Given the description of an element on the screen output the (x, y) to click on. 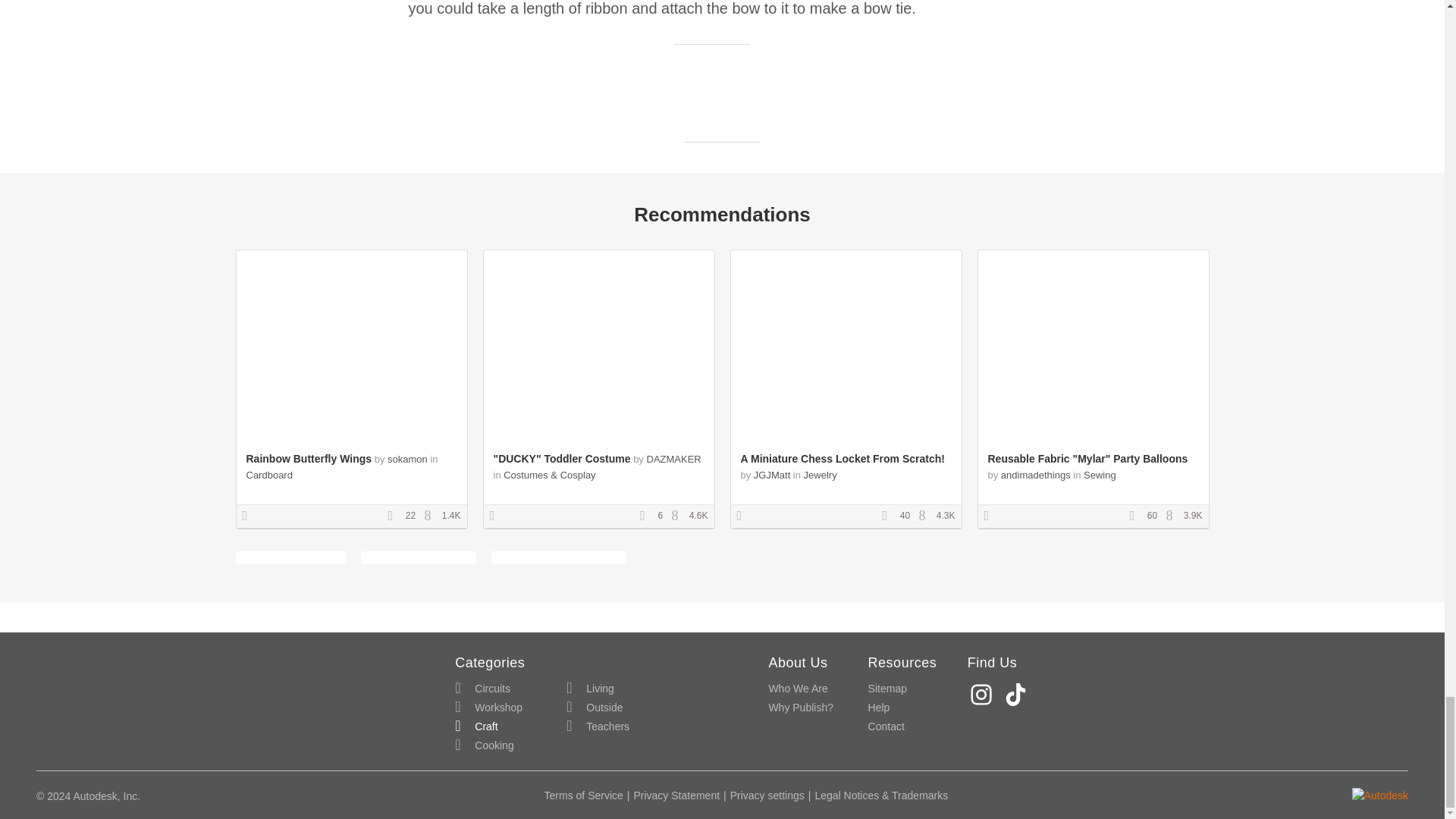
Views Count (431, 516)
Jewelry (820, 474)
Contest Winner (250, 516)
Reusable Fabric "Mylar" Party Balloons (1087, 458)
DAZMAKER (673, 459)
JGJMatt (772, 474)
A Miniature Chess Locket From Scratch! (841, 458)
Contest Winner (497, 516)
Sewing (1099, 474)
Contest Winner (991, 516)
